Given the description of an element on the screen output the (x, y) to click on. 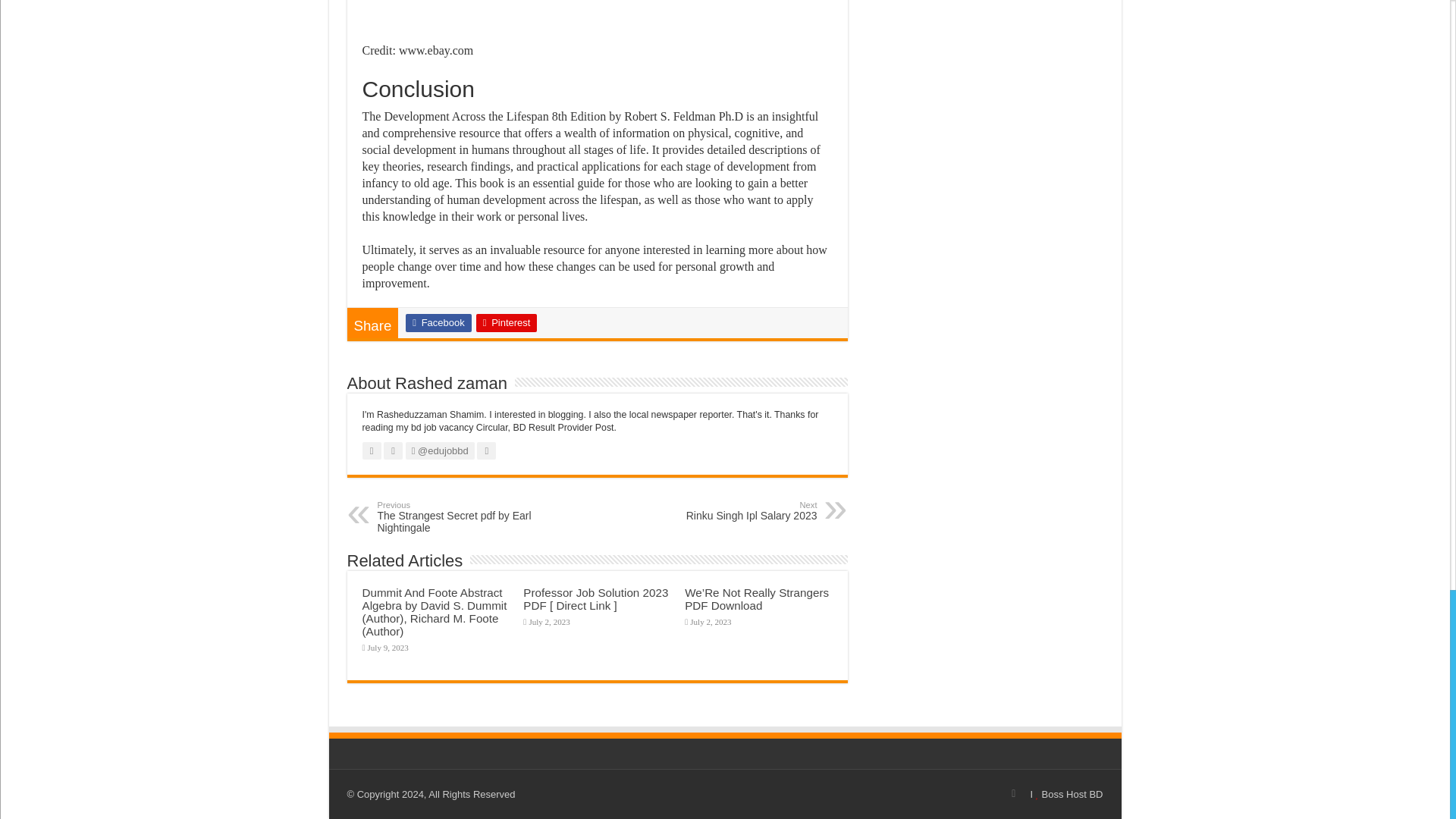
Pinterest (506, 322)
Facebook (438, 322)
